Given the description of an element on the screen output the (x, y) to click on. 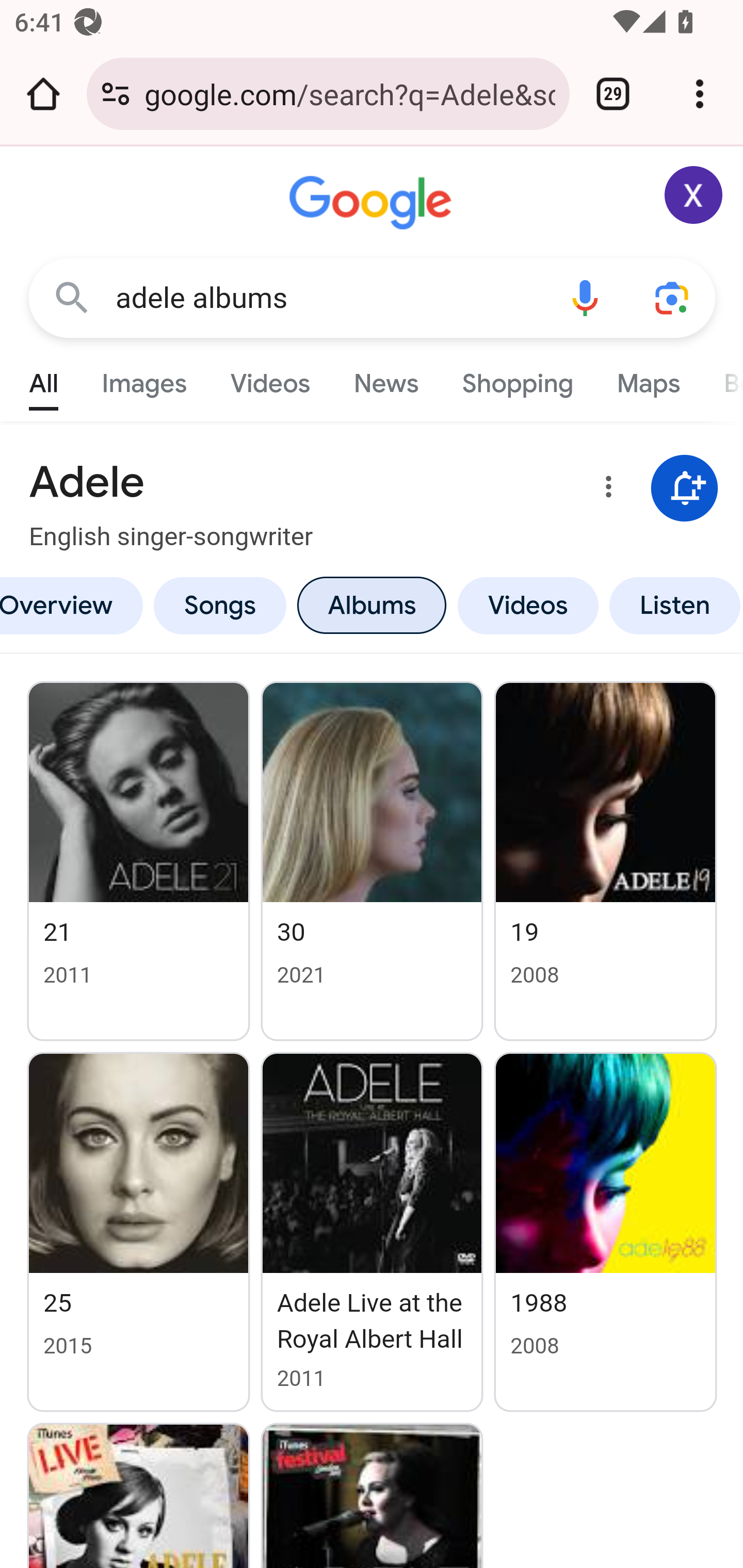
Open the home page (43, 93)
Connection is secure (115, 93)
Switch or close tabs (612, 93)
Customize and control Google Chrome (699, 93)
Google (372, 203)
Google Account: Xiaoran (zxrappiumtest@gmail.com) (694, 195)
Google Search (71, 296)
Search using your camera or photos (672, 296)
adele albums (328, 297)
Images (144, 378)
Videos (270, 378)
News (385, 378)
Shopping (516, 378)
Maps (647, 378)
Get notifications about Adele (684, 489)
More options (605, 489)
Overview (74, 605)
Songs (219, 605)
Albums (371, 605)
Videos (527, 605)
Listen (673, 605)
21 2011 21 2011 (138, 860)
30 2021 30 2021 (371, 860)
19 2008 19 2008 (605, 860)
25 2015 25 2015 (138, 1231)
1988 2008 1988 2008 (605, 1231)
